Given the description of an element on the screen output the (x, y) to click on. 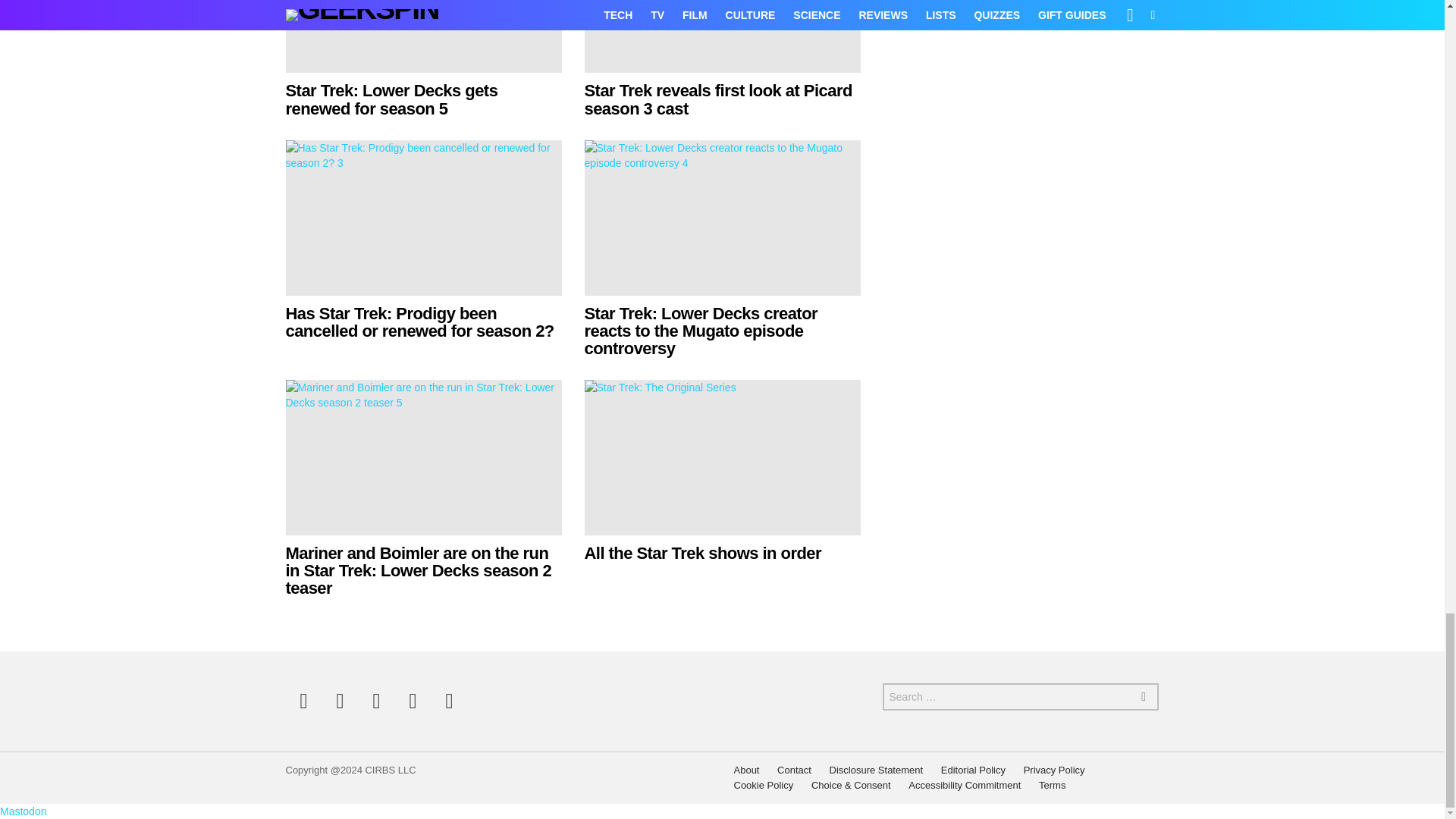
Star Trek reveals first look at Picard season 3 cast (721, 36)
Star Trek reveals first look at Picard season 3 cast (717, 99)
Star Trek: Lower Decks gets renewed for season 5 (391, 99)
Star Trek: Lower Decks gets renewed for season 5 (422, 36)
